Given the description of an element on the screen output the (x, y) to click on. 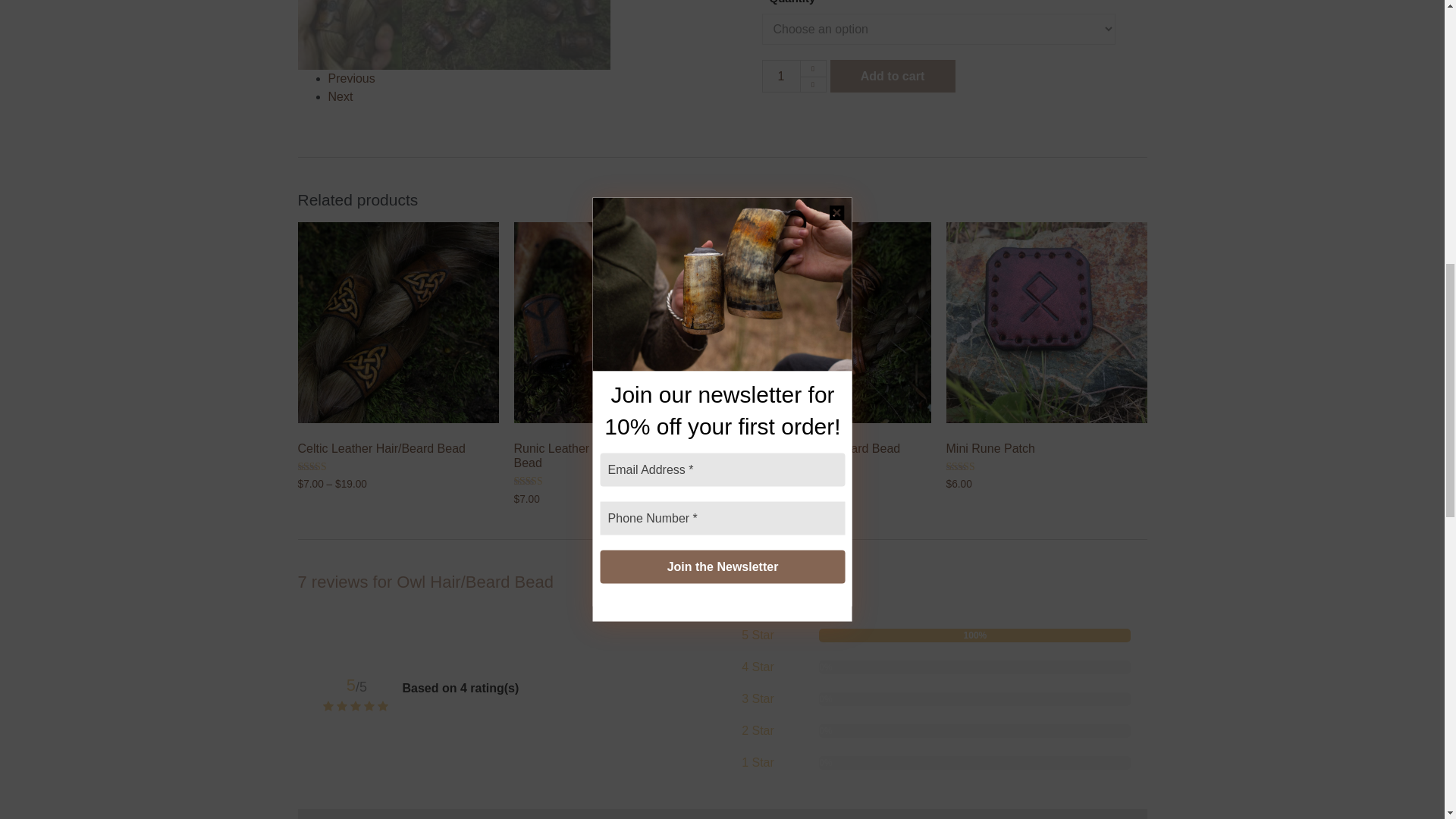
1 (780, 75)
